Given the description of an element on the screen output the (x, y) to click on. 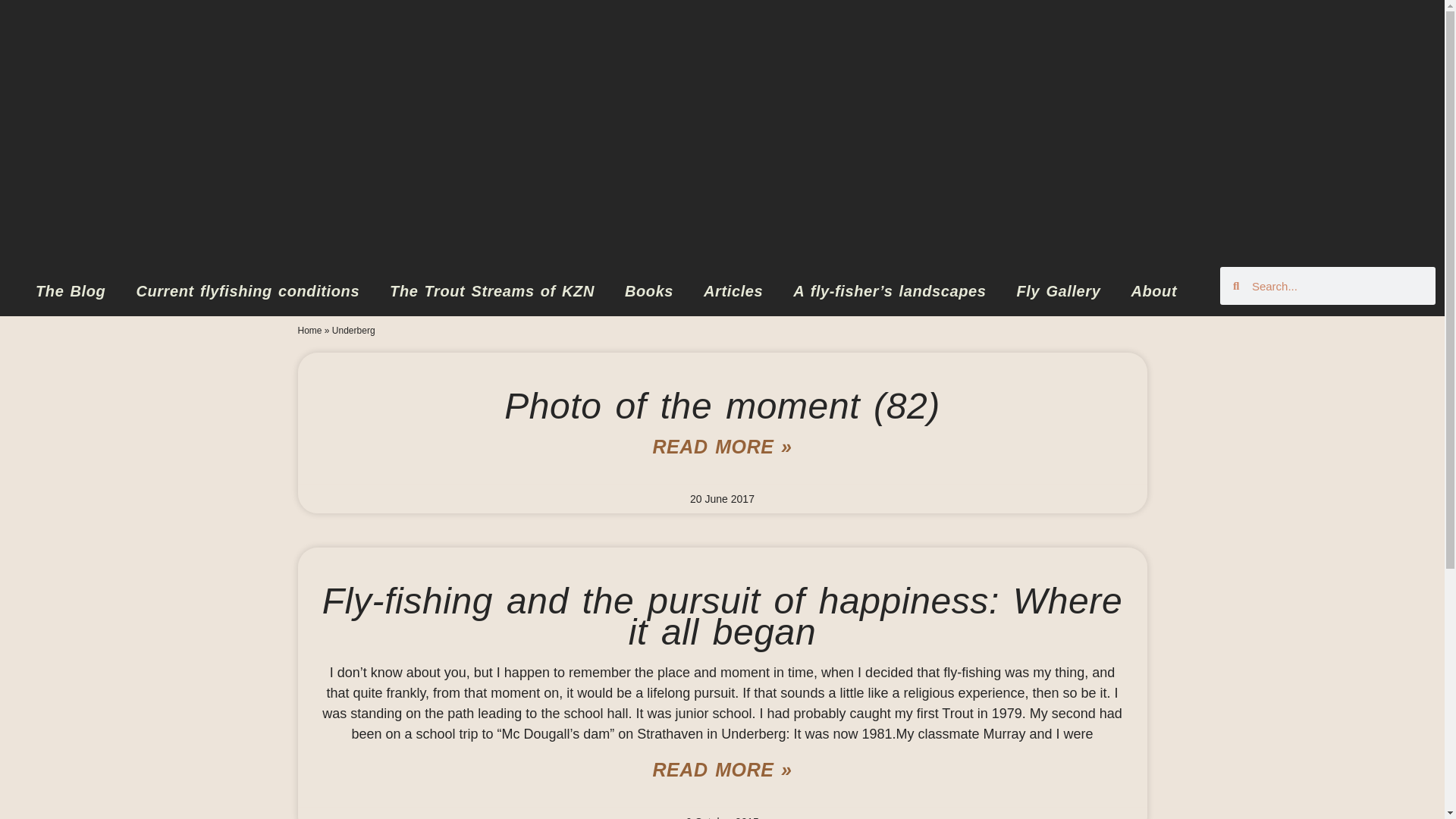
About (1153, 290)
The Trout Streams of KZN (492, 290)
Articles (732, 290)
Books (649, 290)
Home (309, 330)
The Blog (70, 290)
Fly Gallery (1058, 290)
Fly-fishing and the pursuit of happiness: Where it all began (721, 615)
Current flyfishing conditions (247, 290)
